Given the description of an element on the screen output the (x, y) to click on. 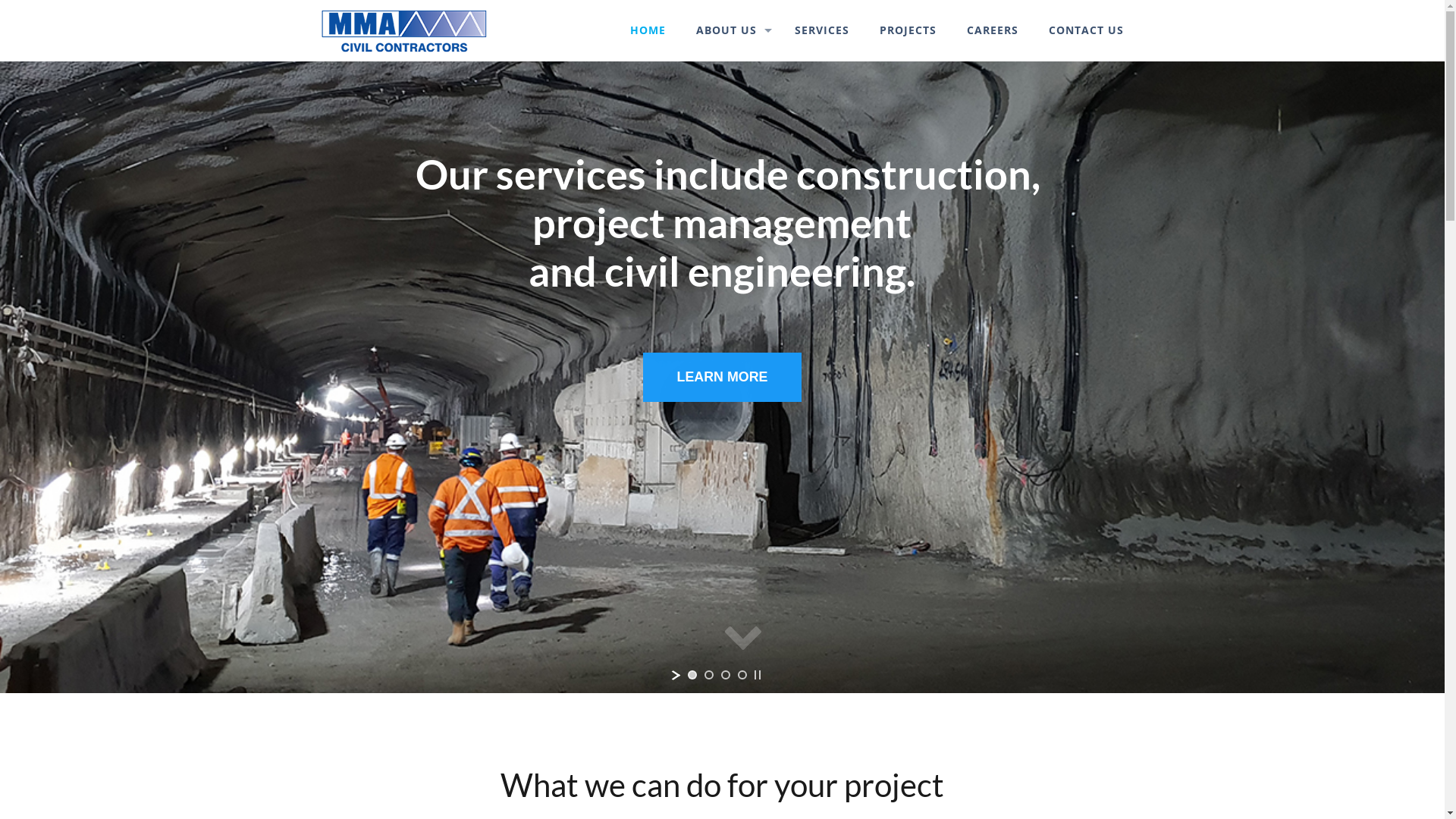
SERVICES Element type: text (836, 568)
PROJECTS Element type: text (836, 588)
ABOUT US Element type: text (729, 30)
CAREERS Element type: text (836, 608)
CONTACT US Element type: text (1086, 30)
Shane@mmacivil.com.au Element type: text (1001, 662)
CAREERS Element type: text (992, 30)
SERVICES Element type: text (821, 30)
DesignQ Element type: text (910, 781)
ABOUT US Element type: text (836, 548)
MMA Civil Contractors Element type: hover (403, 30)
CONTACT US Element type: text (836, 627)
HOME Element type: text (836, 529)
PROJECTS Element type: text (907, 30)
HOME Element type: text (647, 30)
Justin@mmacivil.com.au Element type: text (1001, 676)
